Given the description of an element on the screen output the (x, y) to click on. 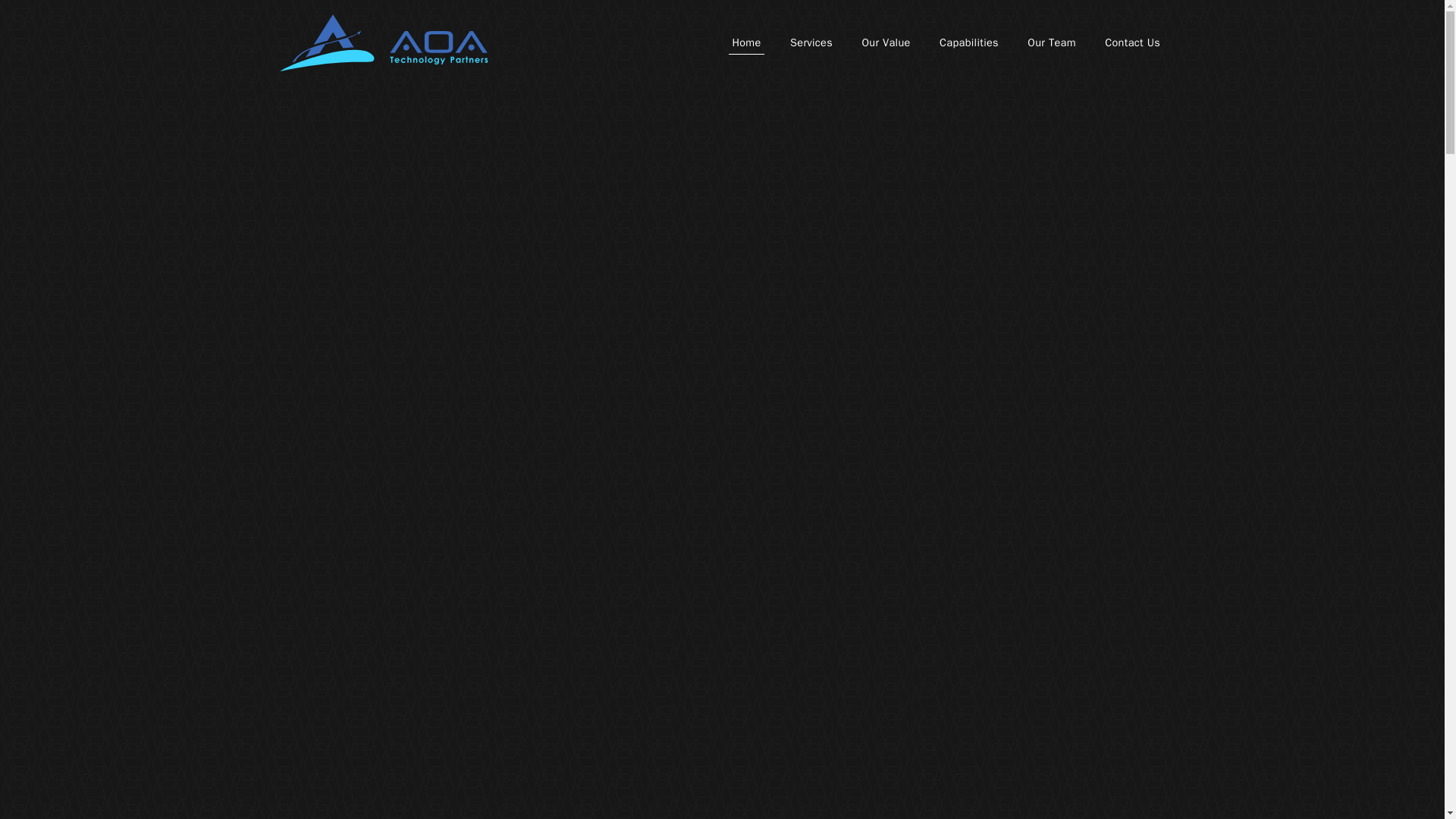
Our Team (1050, 43)
Capabilities (968, 43)
Services (810, 43)
Home (747, 43)
Our Value (886, 43)
Contact Us (1131, 43)
